Given the description of an element on the screen output the (x, y) to click on. 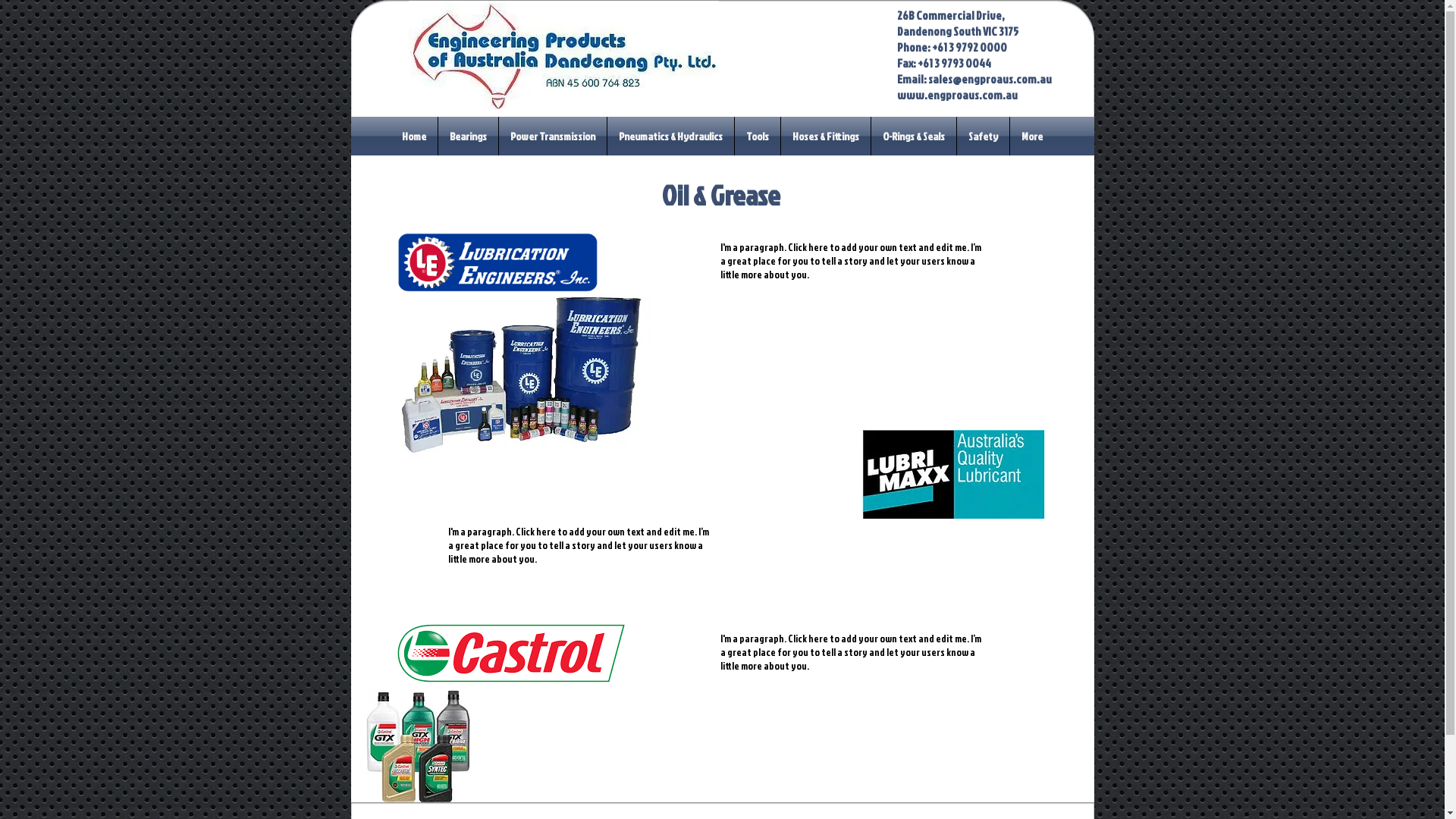
Tools Element type: text (757, 135)
Bearings Element type: text (468, 135)
Home Element type: text (413, 135)
Hoses & Fittings Element type: text (825, 135)
Pneumatics & Hydraulics Element type: text (670, 135)
2-le-product-range.jpg Element type: hover (523, 378)
Safety Element type: text (983, 135)
O-Rings & Seals Element type: text (913, 135)
Power Transmission Element type: text (552, 135)
